Given the description of an element on the screen output the (x, y) to click on. 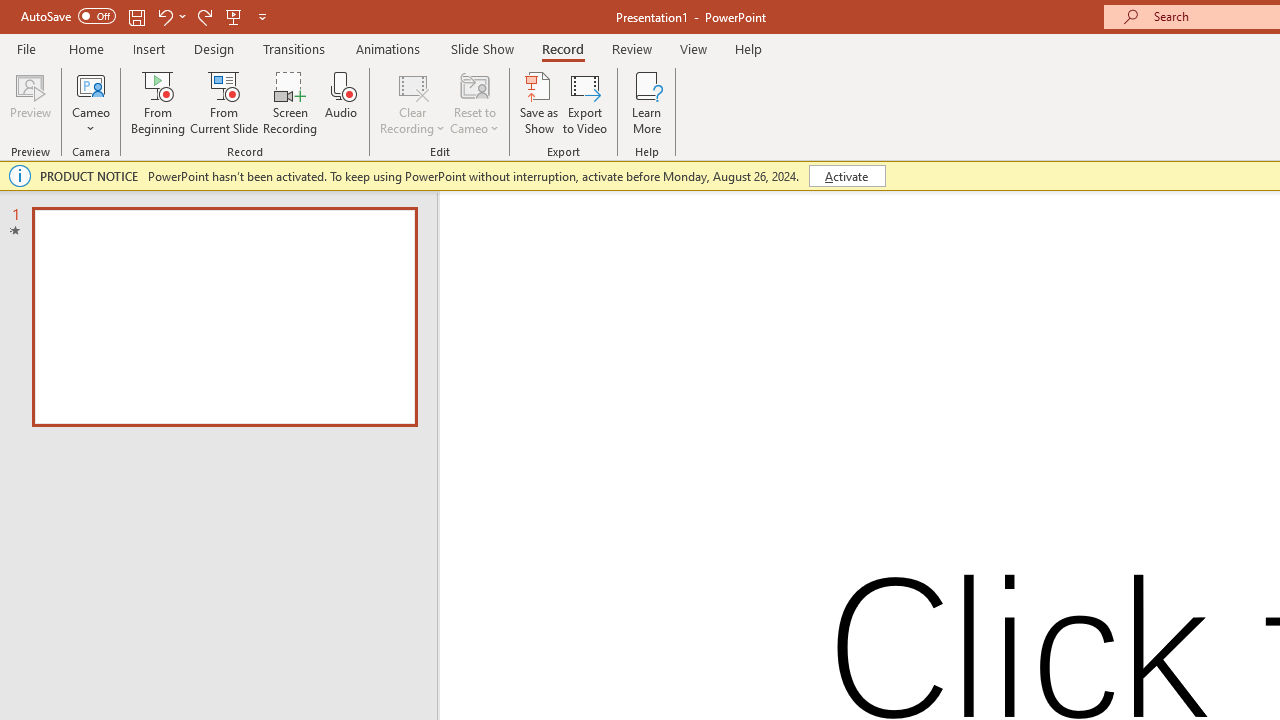
Export to Video (585, 102)
Cameo (91, 84)
